Given the description of an element on the screen output the (x, y) to click on. 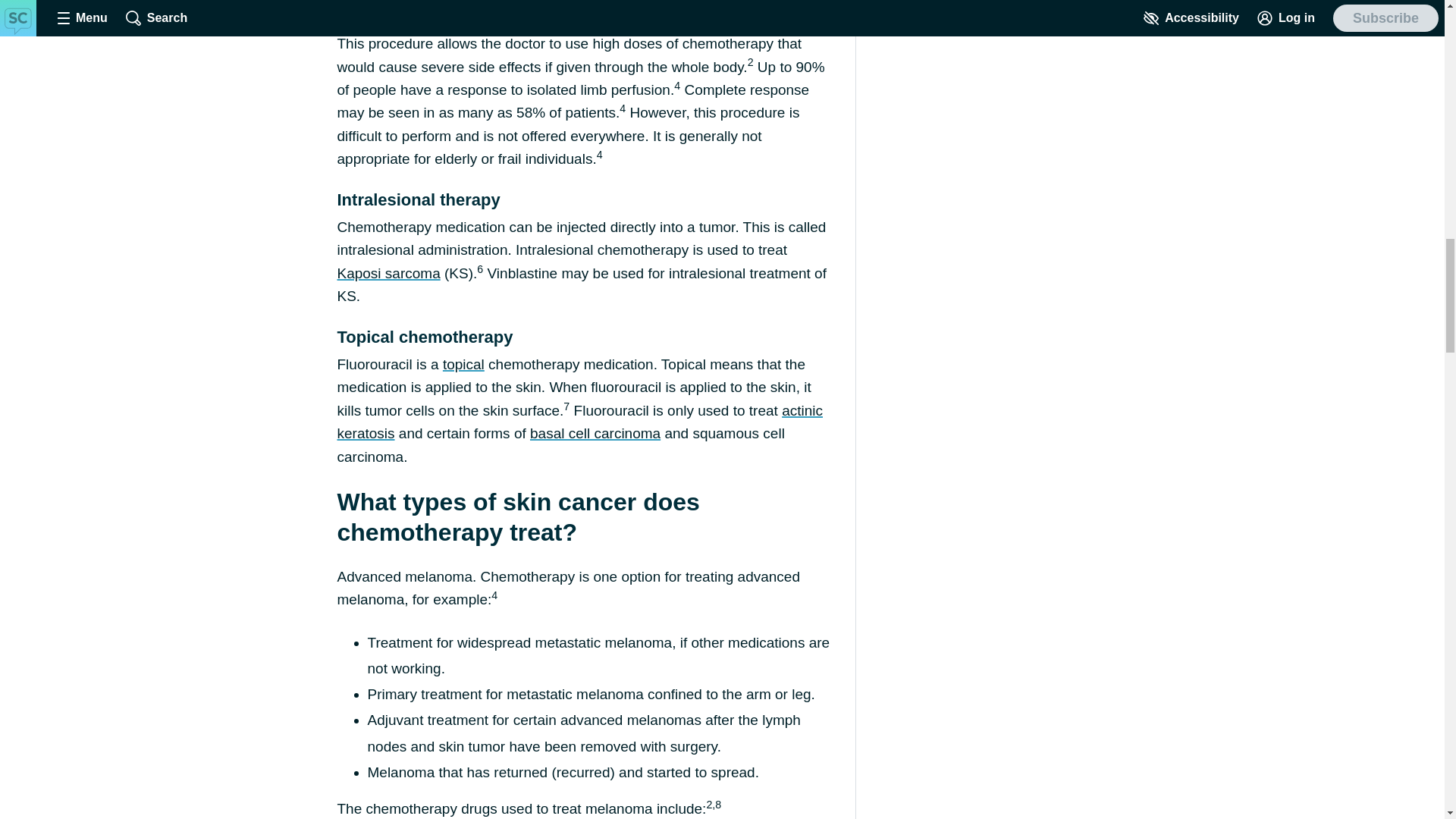
basal cell carcinoma (595, 433)
topical (463, 364)
actinic keratosis (579, 421)
Kaposi sarcoma (387, 273)
